Given the description of an element on the screen output the (x, y) to click on. 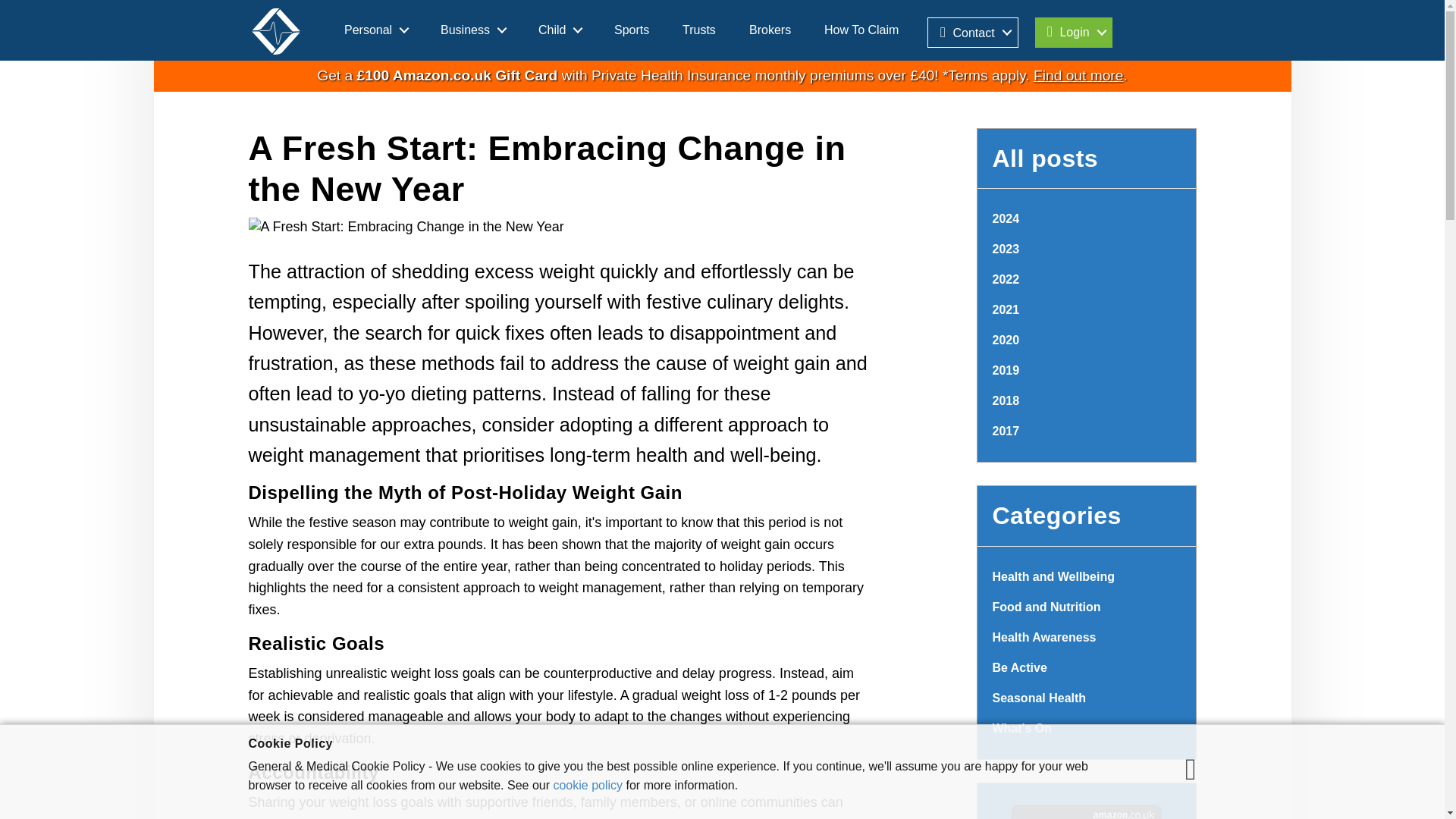
Personal (375, 30)
Private Health Insurance With Amazon.co.uk Gift Card (1077, 75)
General and Medical Healthcare (276, 32)
General and Medical Healthcare (283, 28)
